Given the description of an element on the screen output the (x, y) to click on. 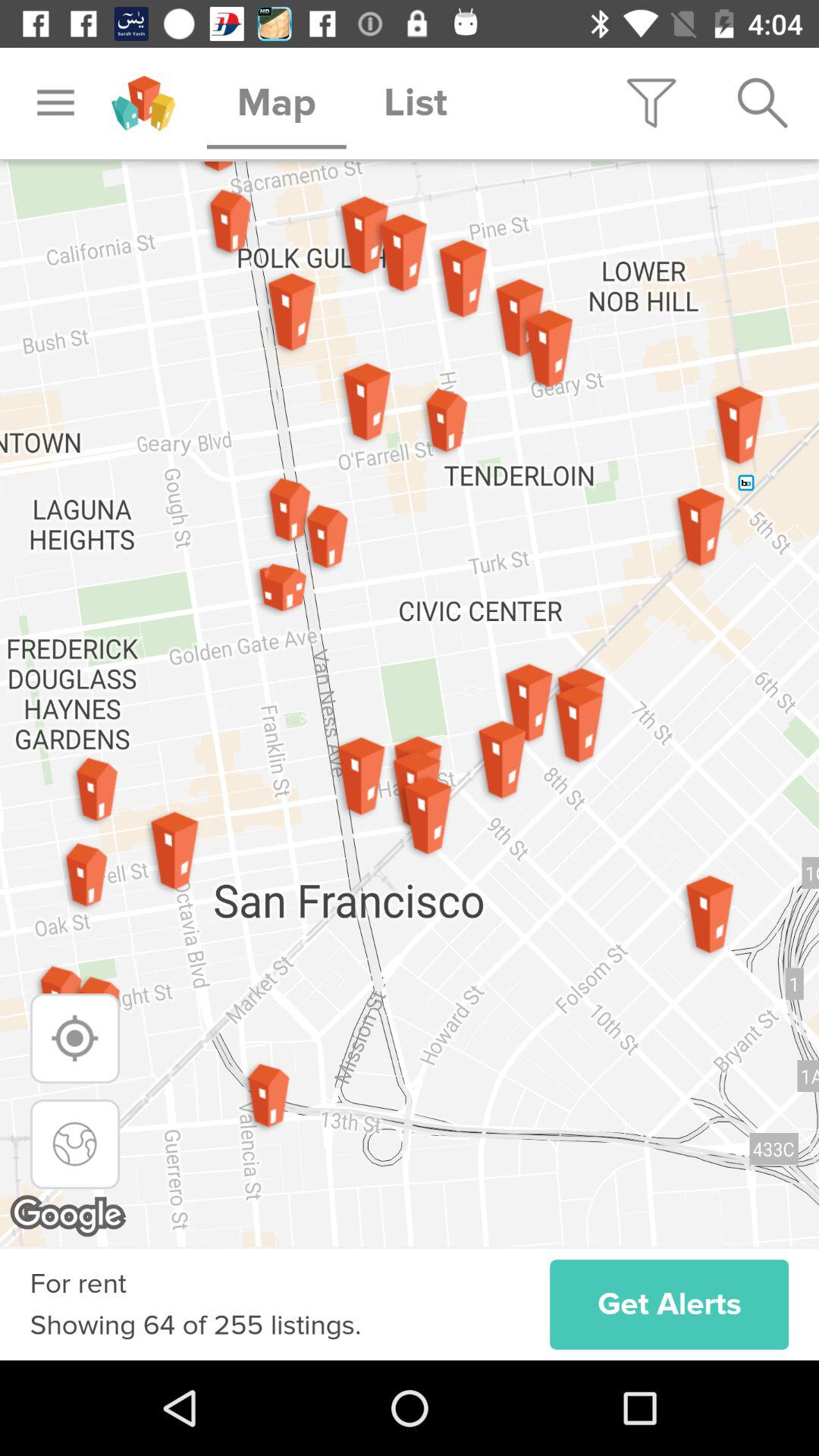
toggle earth view (75, 1144)
